Given the description of an element on the screen output the (x, y) to click on. 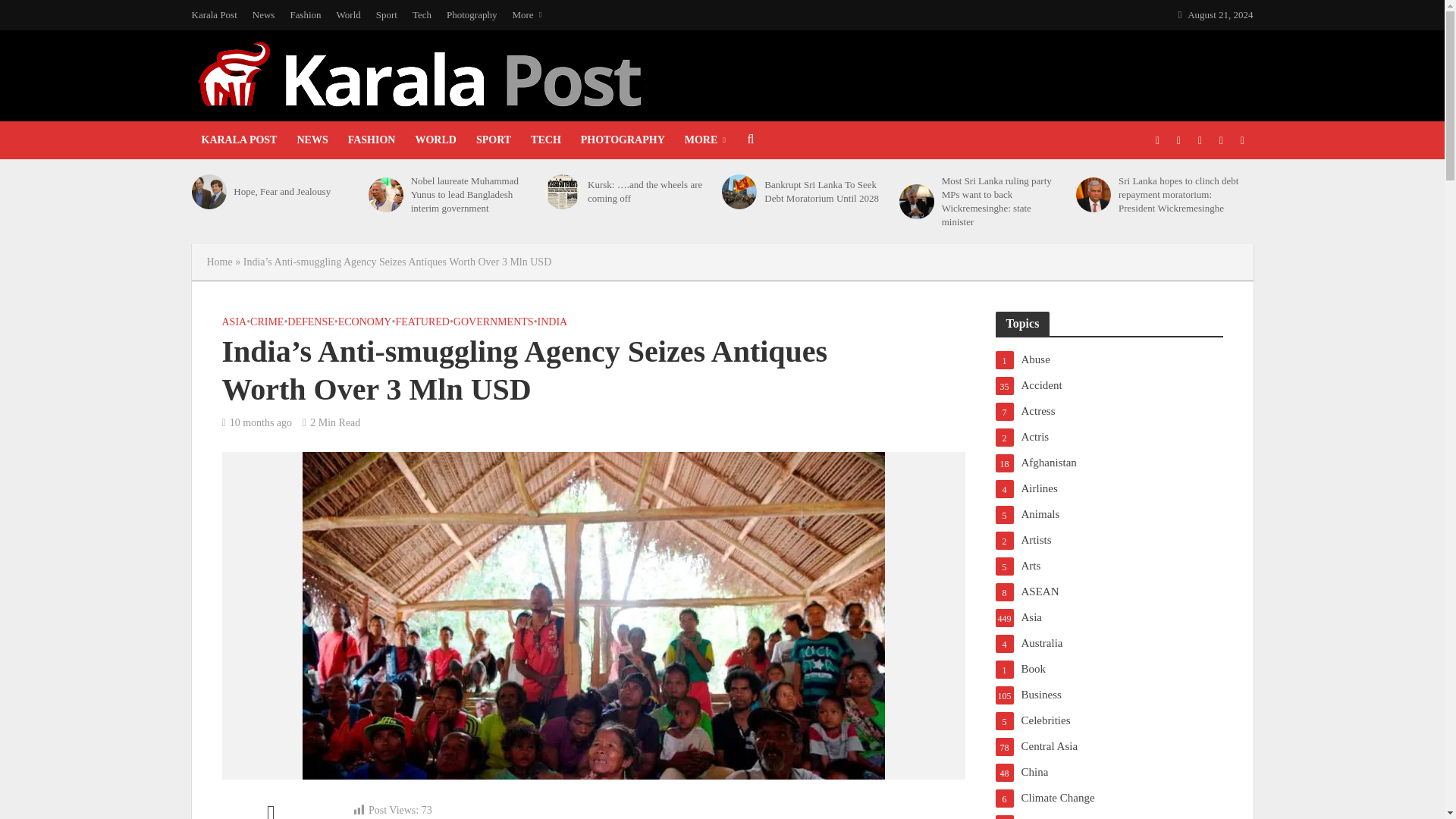
Fashion (305, 15)
SPORT (493, 139)
Bankrupt Sri Lanka To Seek Debt Moratorium Until 2028 (739, 191)
Hope, Fear and Jealousy (295, 192)
Sport (386, 15)
Karala Post (217, 15)
Photography (471, 15)
TECH (545, 139)
FASHION (371, 139)
